Given the description of an element on the screen output the (x, y) to click on. 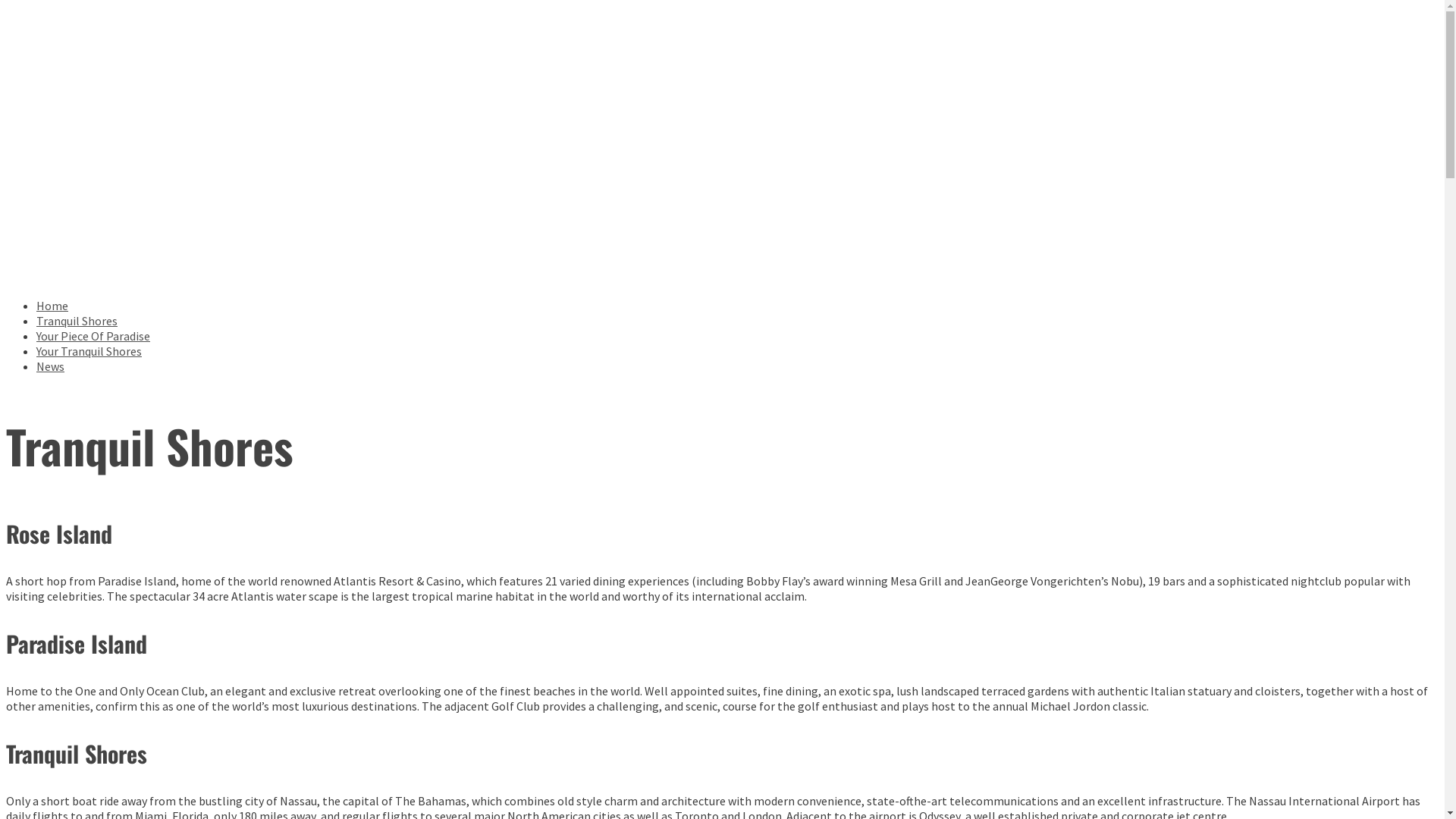
Your Tranquil Shores Element type: text (88, 350)
Home Element type: text (52, 305)
Tranquil Shores Element type: text (76, 320)
News Element type: text (50, 365)
Your Piece Of Paradise Element type: text (93, 335)
